Given the description of an element on the screen output the (x, y) to click on. 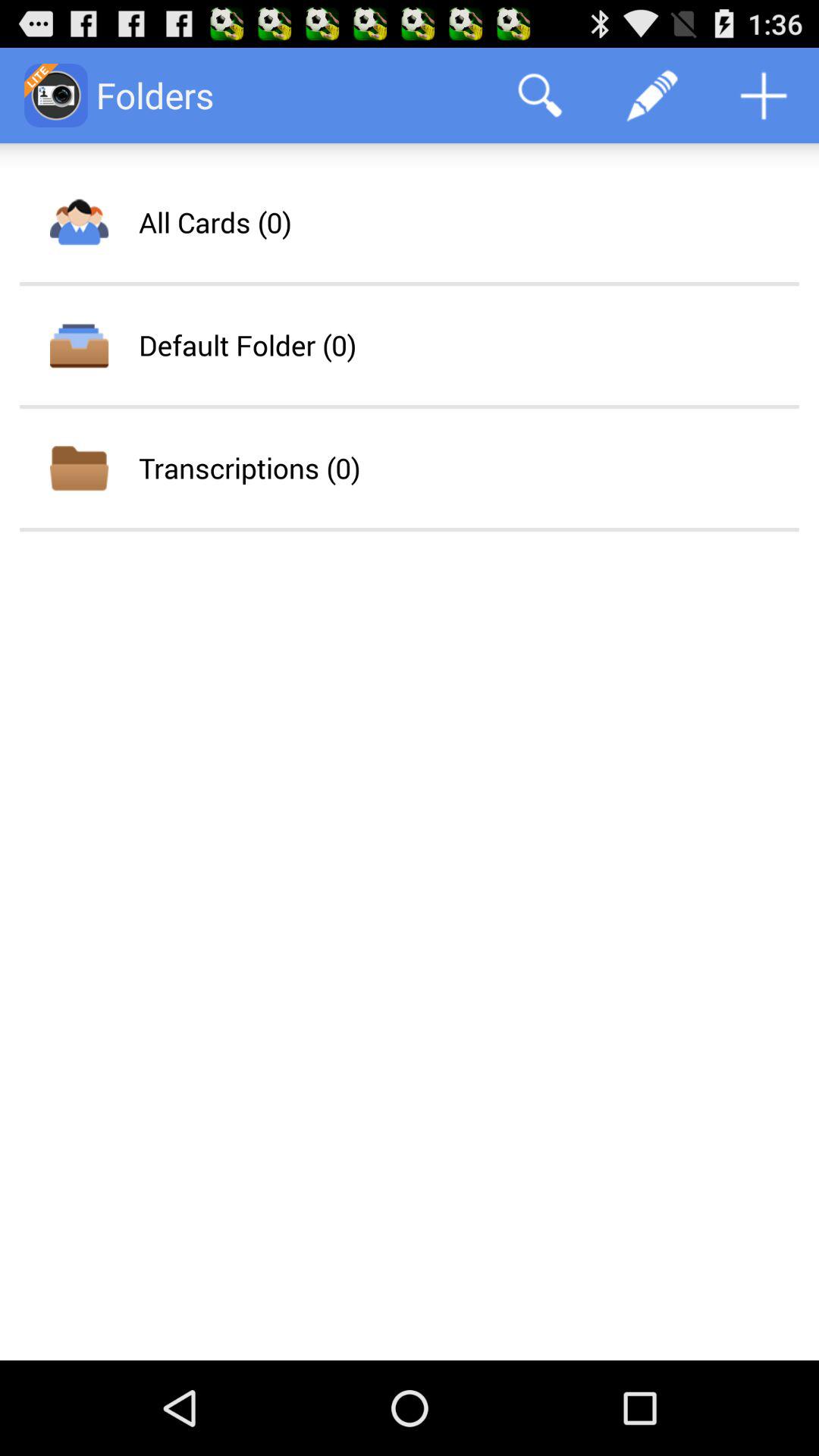
flip until the default folder (0) app (247, 345)
